Given the description of an element on the screen output the (x, y) to click on. 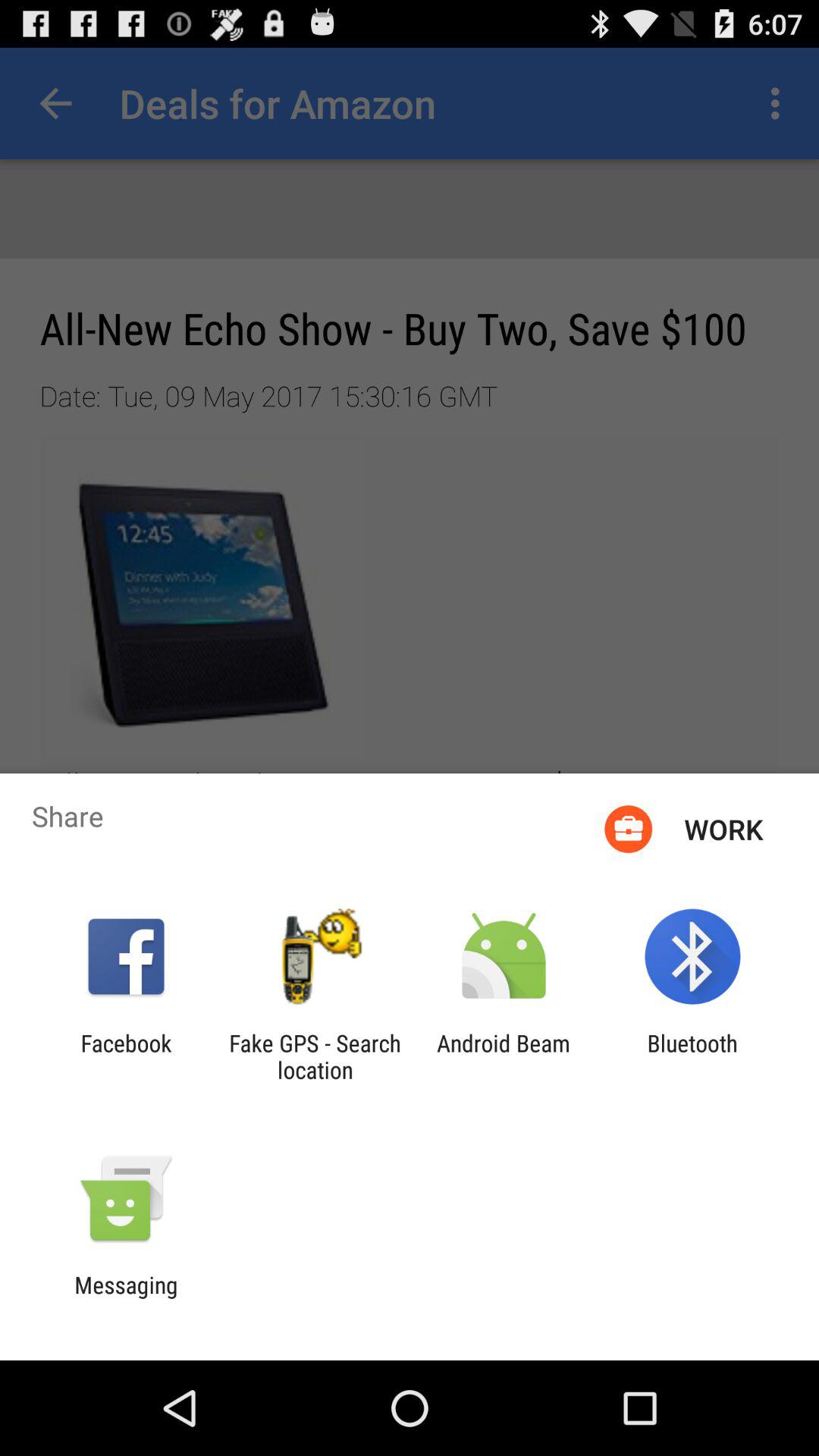
tap the item to the left of the bluetooth (503, 1056)
